Given the description of an element on the screen output the (x, y) to click on. 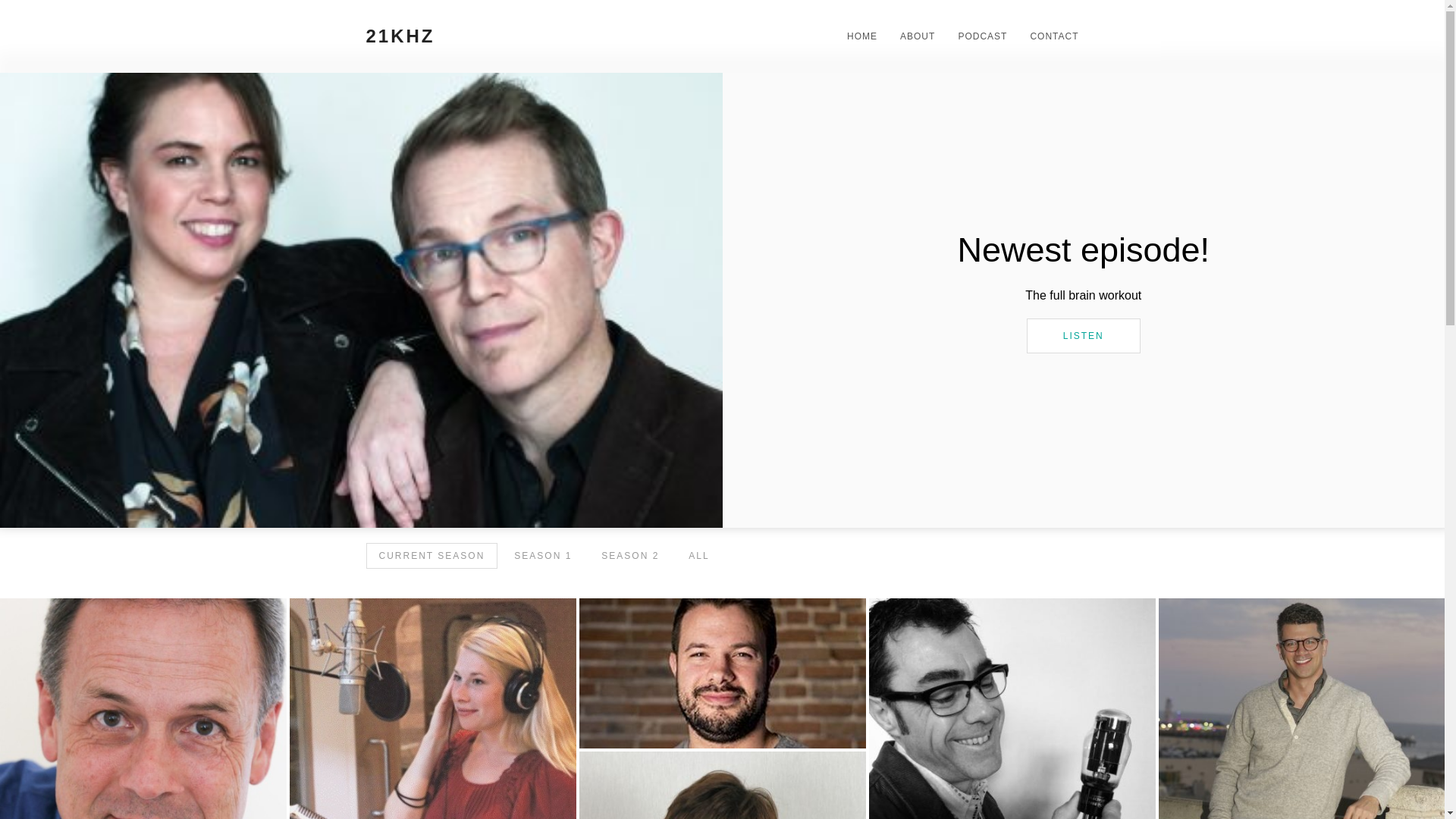
ALL Element type: text (698, 555)
SEASON 1 Element type: text (542, 555)
CONTACT Element type: text (1048, 36)
Really Cool Uncorrelated Musical Assets Element type: hover (722, 673)
21KHZ Element type: text (471, 36)
ABOUT Element type: text (911, 36)
LISTEN Element type: text (1083, 335)
HOME Element type: text (856, 36)
PODCAST Element type: text (976, 36)
CURRENT SEASON Element type: text (431, 555)
SEASON 2 Element type: text (629, 555)
